Given the description of an element on the screen output the (x, y) to click on. 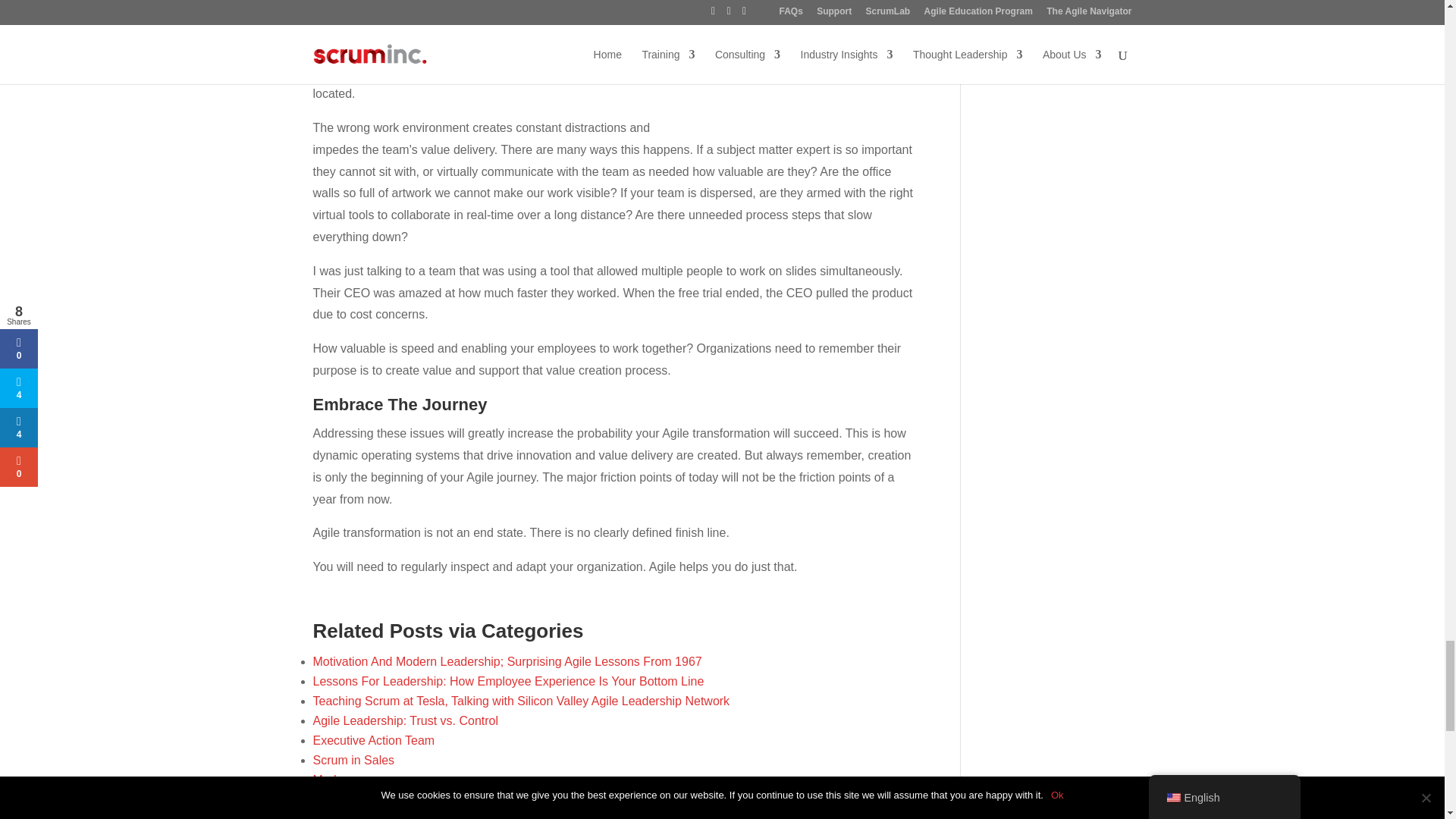
Muda (327, 779)
Agile Architecture (360, 799)
Scrum in Sales (353, 759)
Agile Contracts (353, 816)
Executive Action Team (373, 739)
Agile Leadership: Trust vs. Control (405, 720)
